Given the description of an element on the screen output the (x, y) to click on. 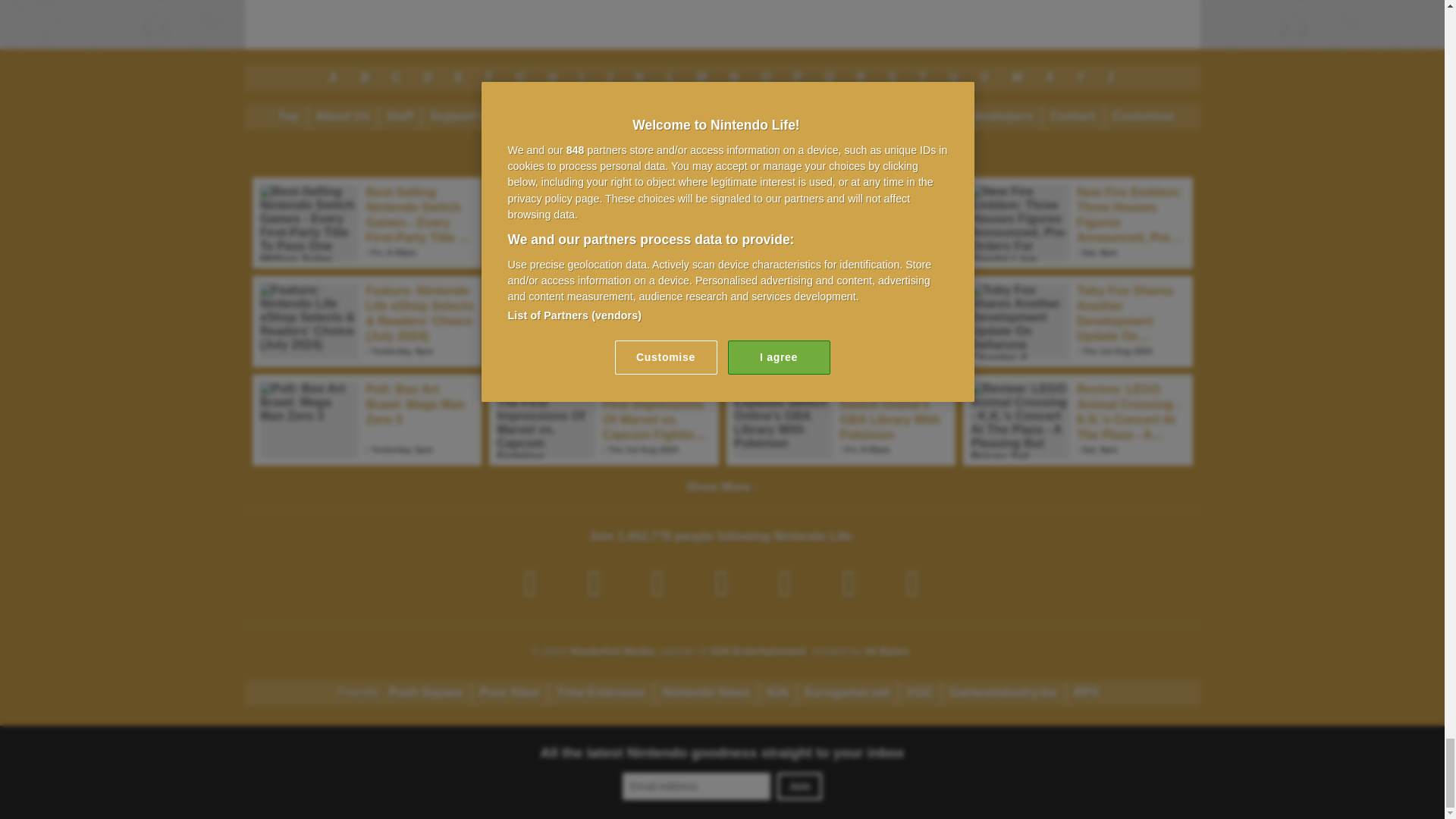
Join (799, 786)
